Given the description of an element on the screen output the (x, y) to click on. 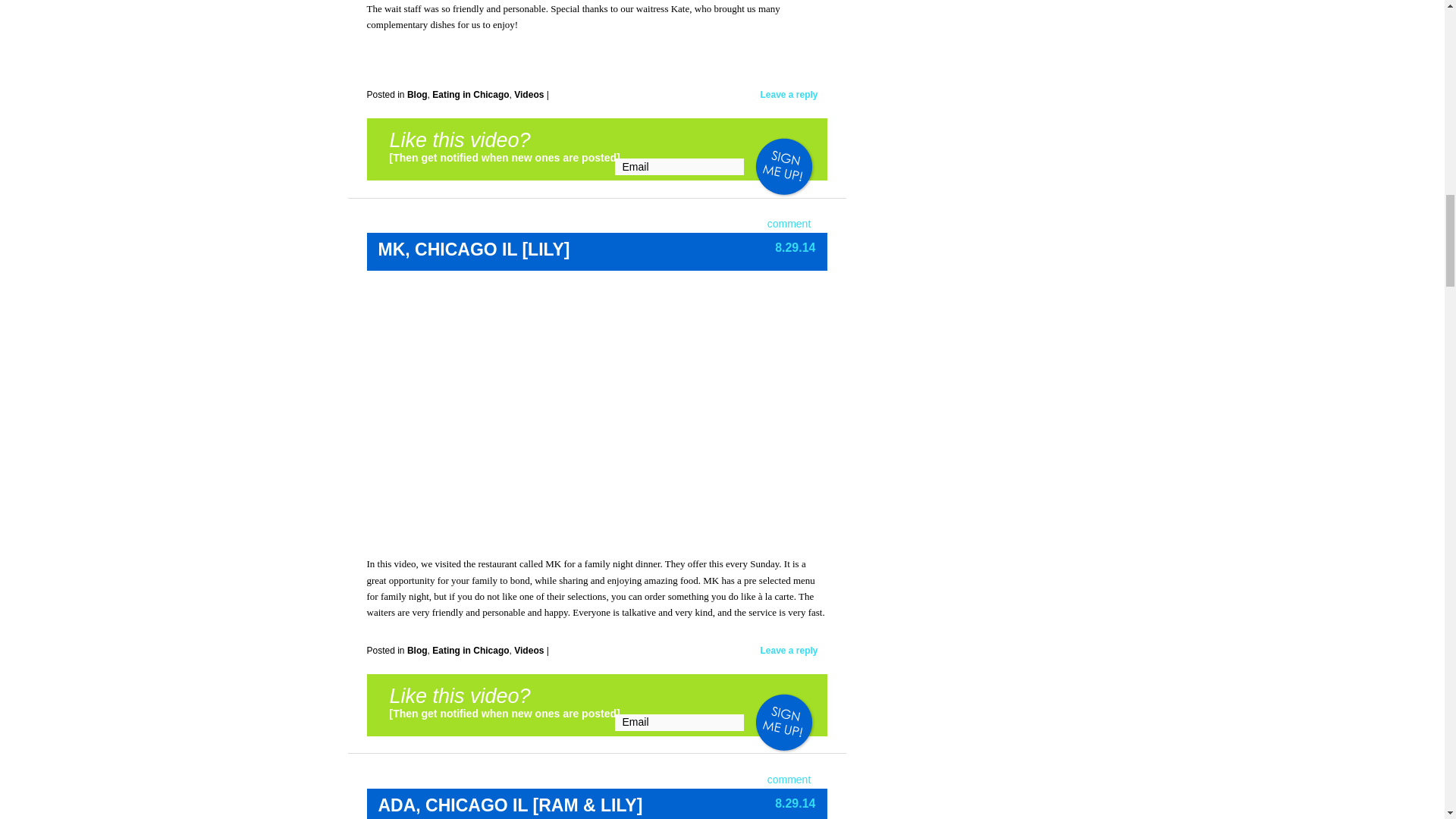
Blog (417, 650)
Leave a reply (788, 94)
HappyKidsEat Reviews MK (587, 410)
Eating in Chicago (470, 94)
Eating in Chicago (470, 650)
Blog (417, 94)
Email (679, 722)
Leave a reply (788, 650)
Videos (528, 94)
comment (788, 779)
